Given the description of an element on the screen output the (x, y) to click on. 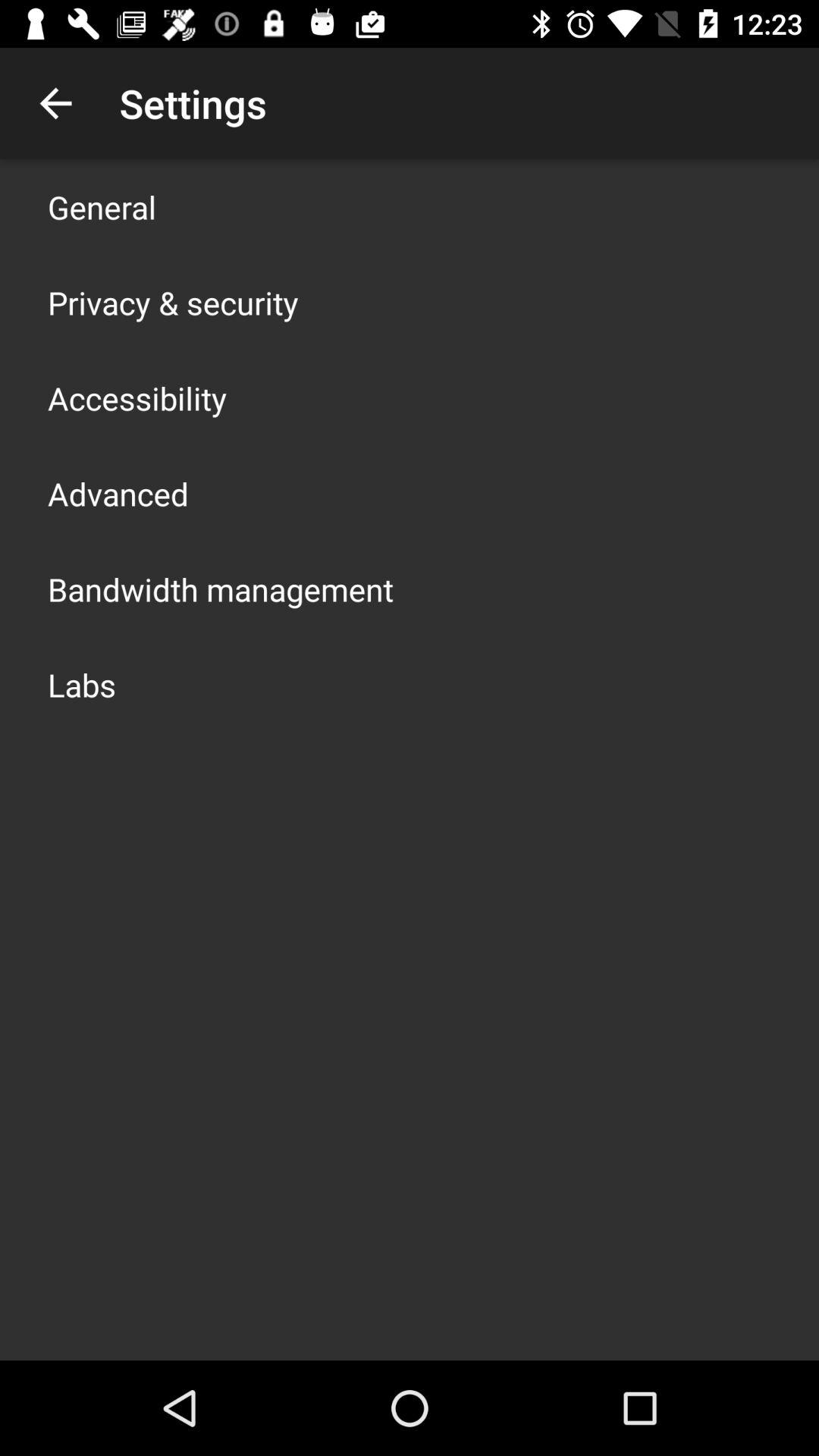
turn off privacy & security item (172, 302)
